Given the description of an element on the screen output the (x, y) to click on. 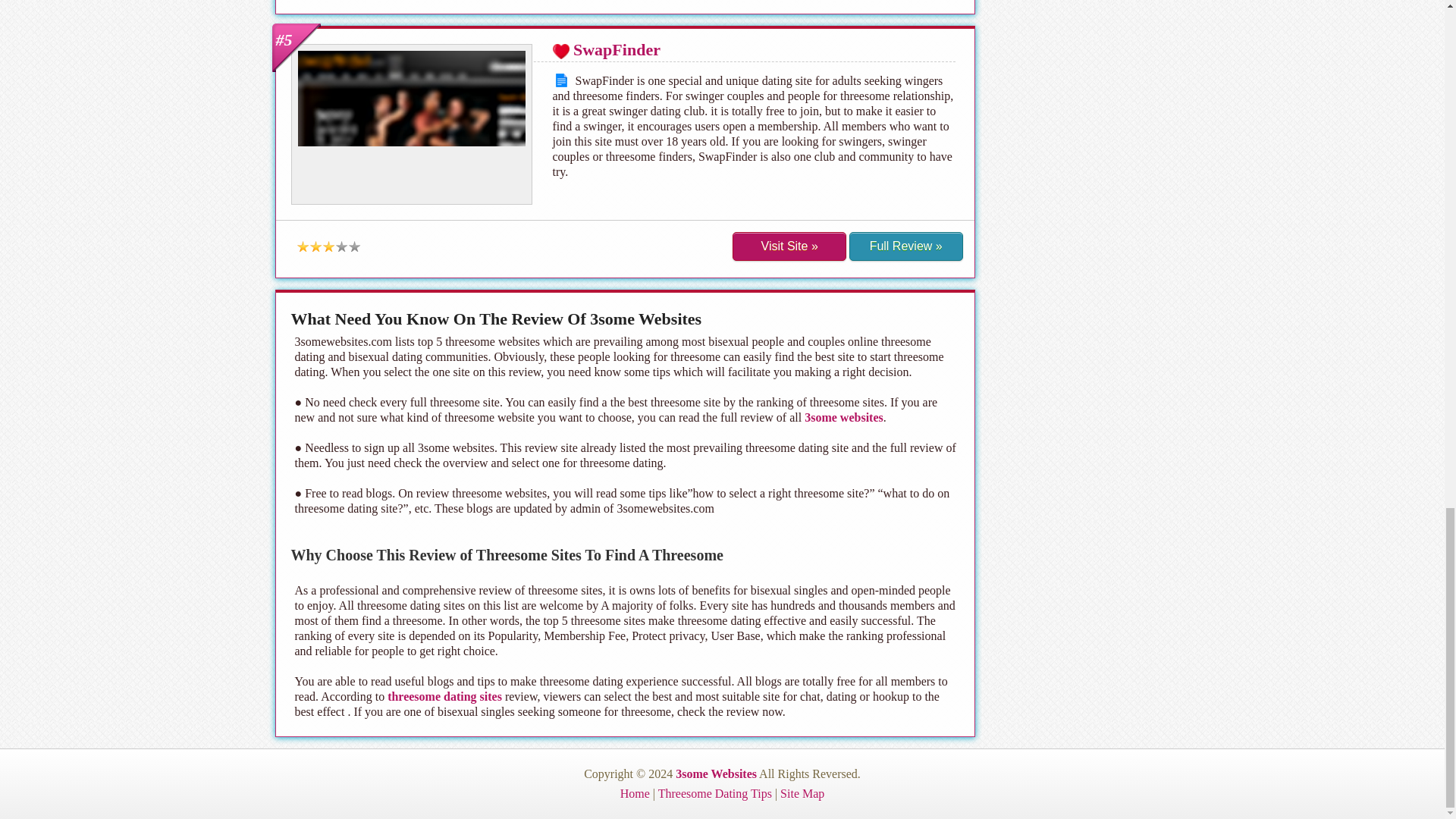
SwapFinder (617, 49)
3some websites (844, 417)
threesome dating sites (444, 695)
